Given the description of an element on the screen output the (x, y) to click on. 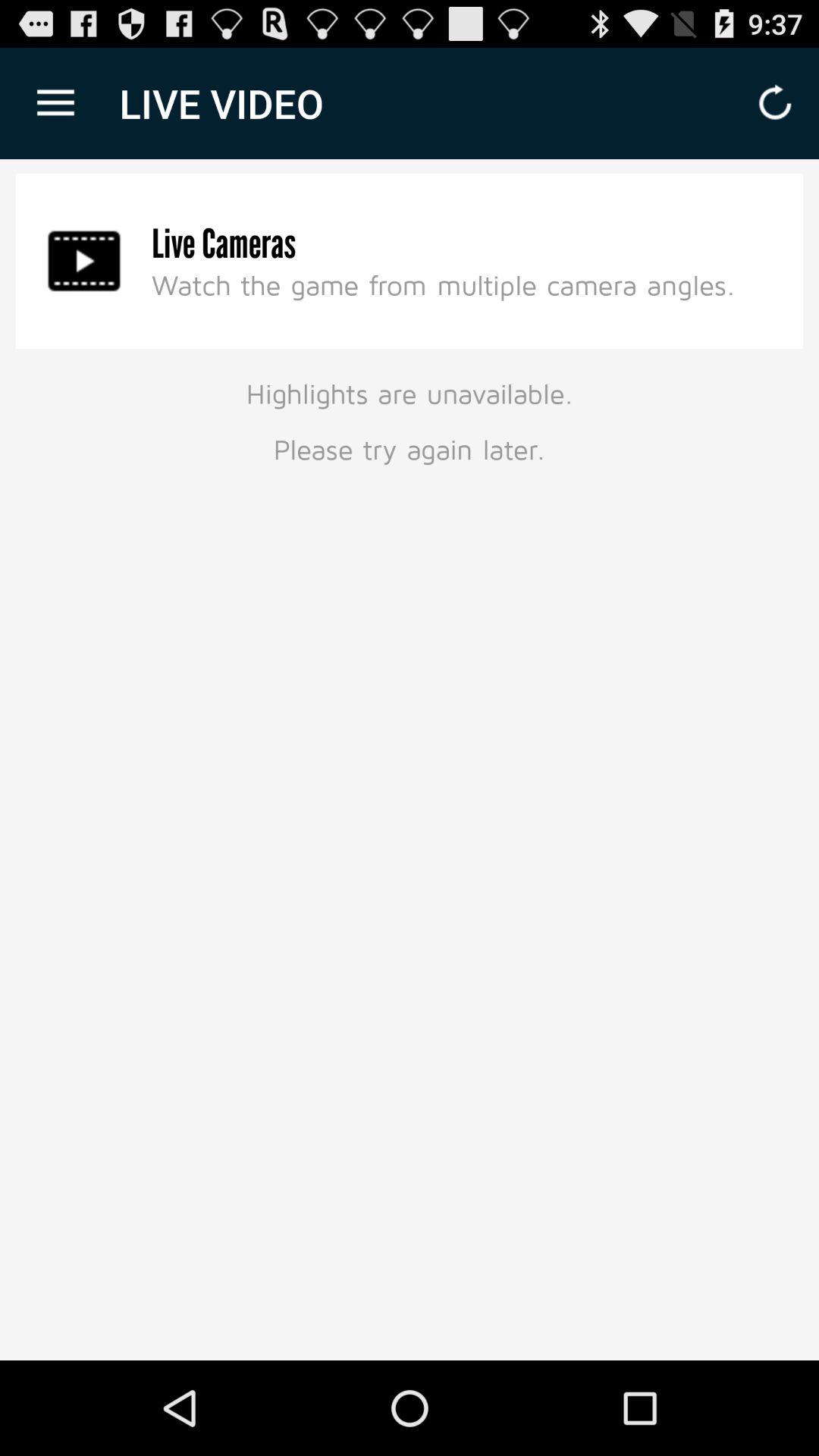
swipe to the highlights are unavailable (409, 419)
